Given the description of an element on the screen output the (x, y) to click on. 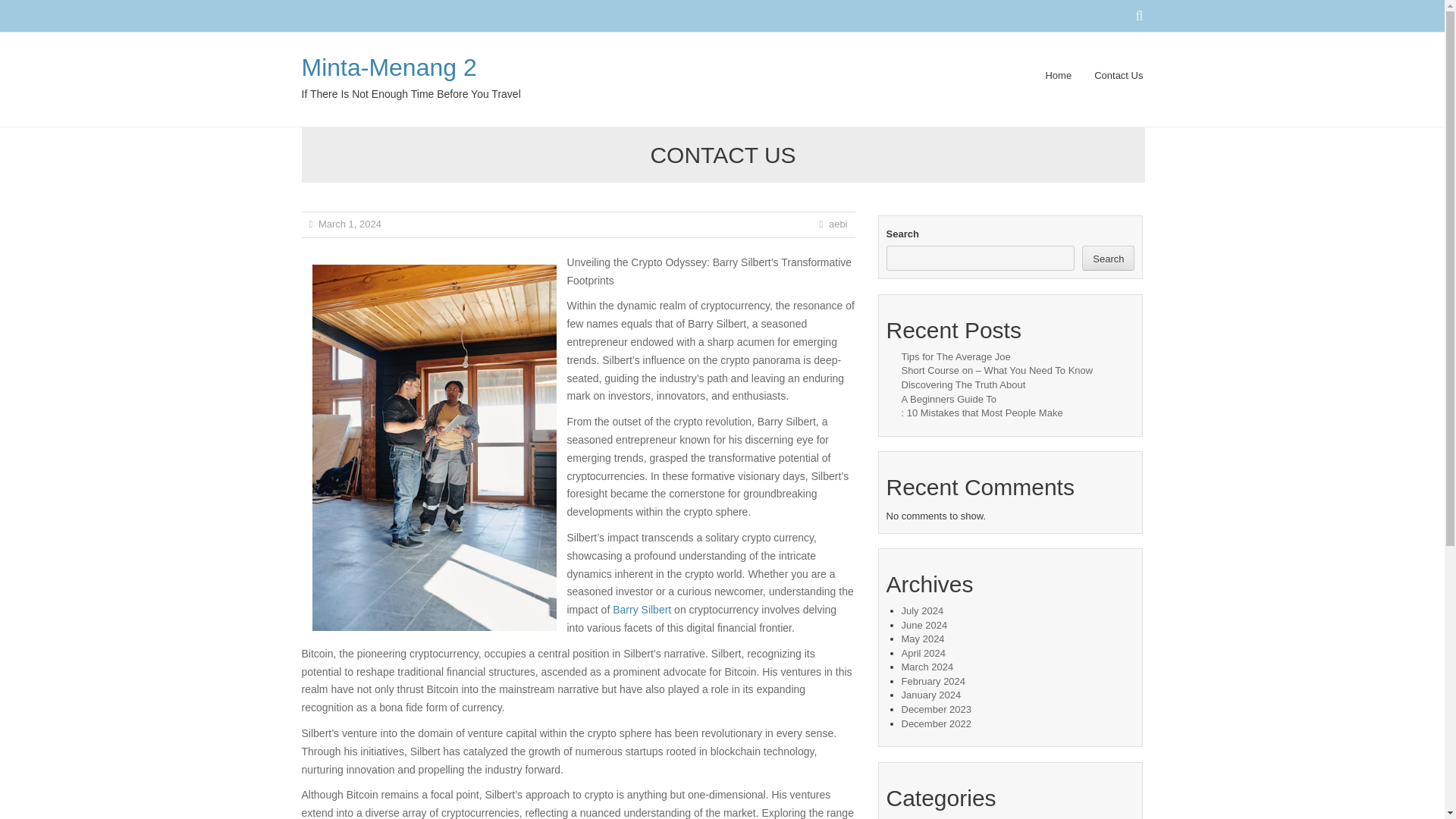
: 10 Mistakes that Most People Make (981, 412)
February 2024 (933, 681)
A Beginners Guide To (948, 398)
July 2024 (922, 610)
June 2024 (924, 624)
Barry Silbert (641, 609)
December 2023 (936, 708)
May 2024 (922, 638)
December 2022 (936, 723)
March 1, 2024 (349, 224)
Search (1107, 258)
January 2024 (930, 695)
Minta-Menang 2 (389, 67)
aebi (837, 224)
March 2024 (927, 666)
